Given the description of an element on the screen output the (x, y) to click on. 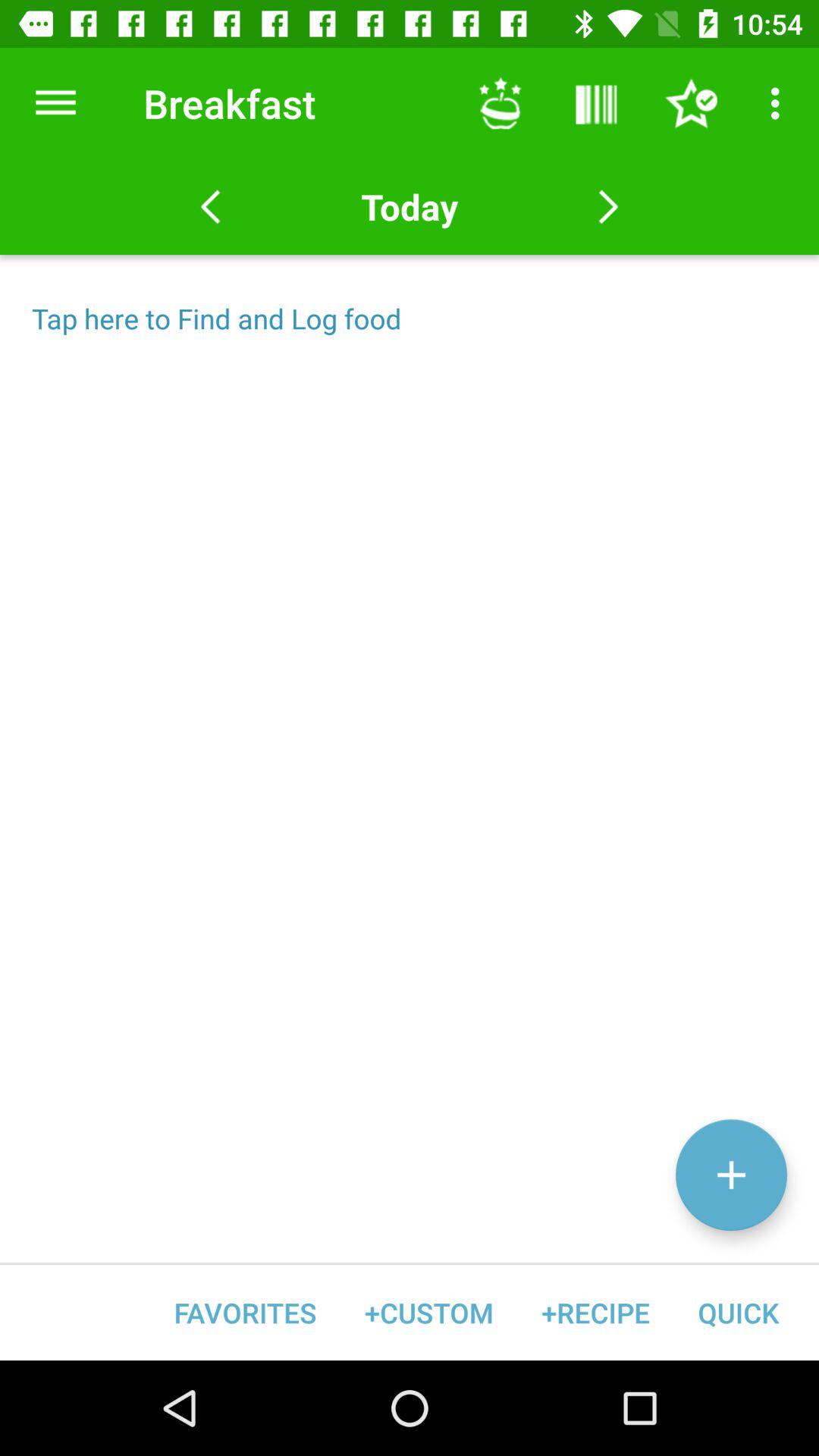
select the icon to the right of the +custom icon (595, 1312)
